Given the description of an element on the screen output the (x, y) to click on. 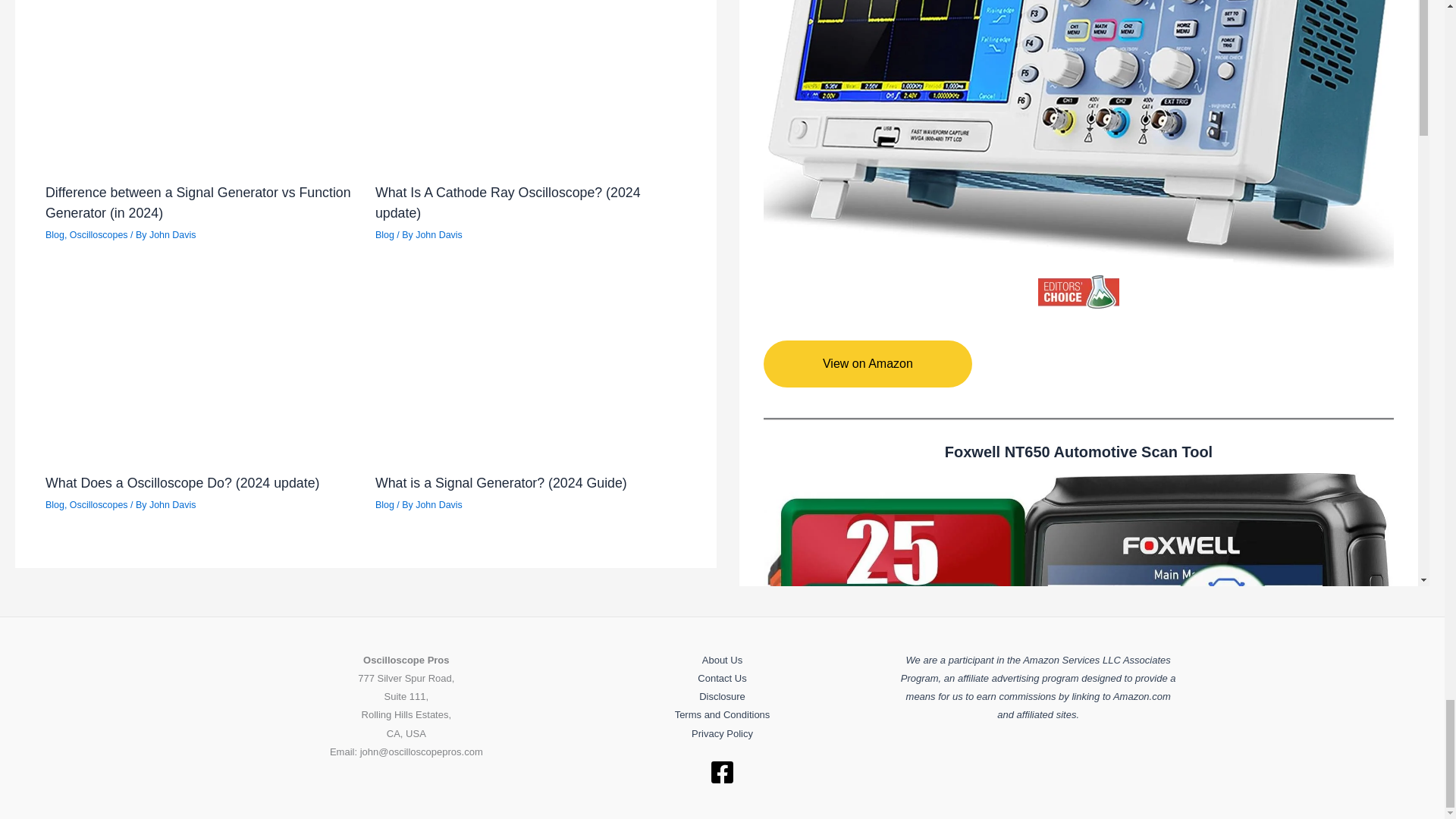
View all posts by John Davis (172, 235)
View all posts by John Davis (172, 504)
View all posts by John Davis (438, 235)
View all posts by John Davis (438, 504)
